Given the description of an element on the screen output the (x, y) to click on. 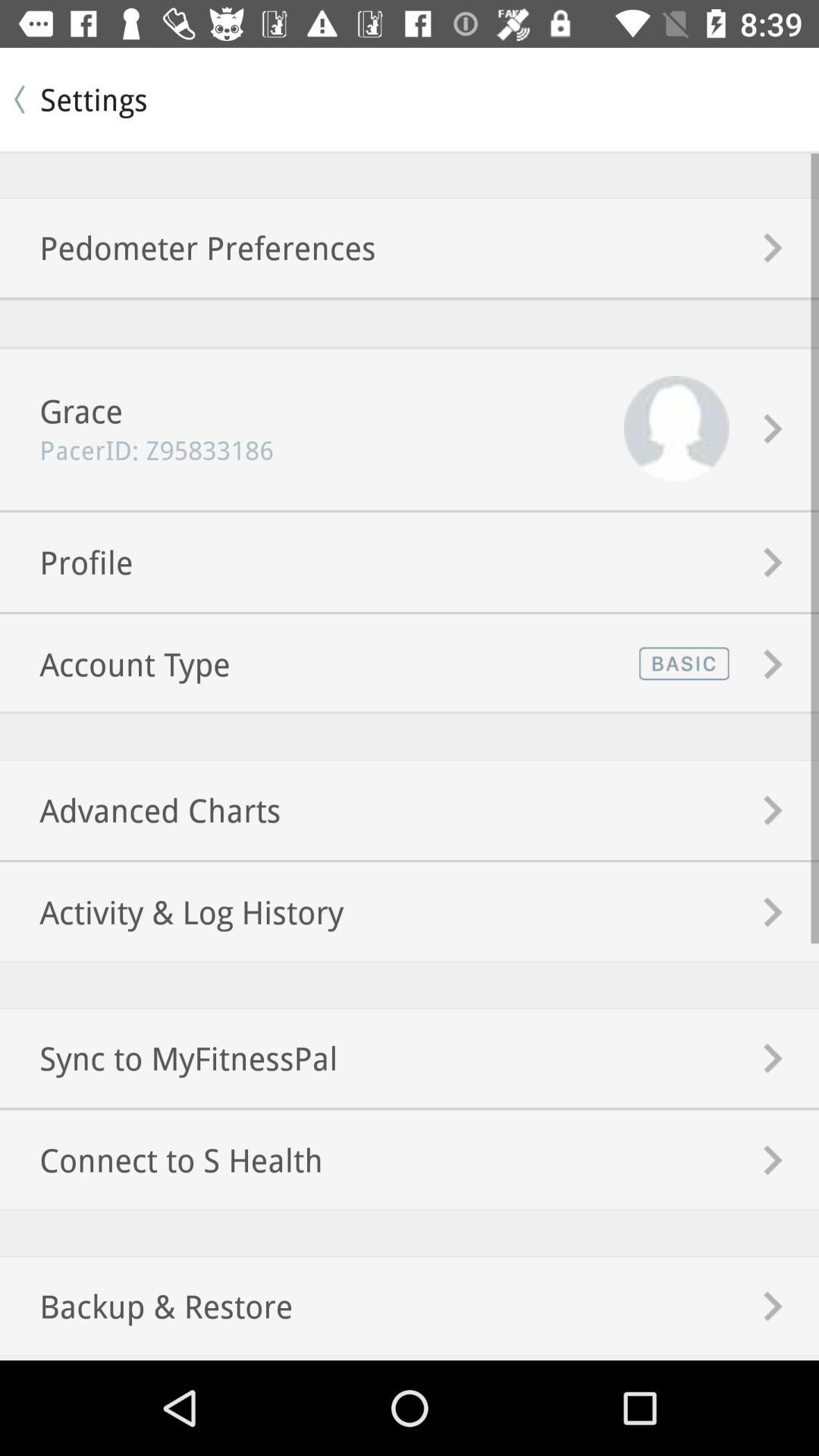
jump until pedometer preferences item (187, 247)
